Given the description of an element on the screen output the (x, y) to click on. 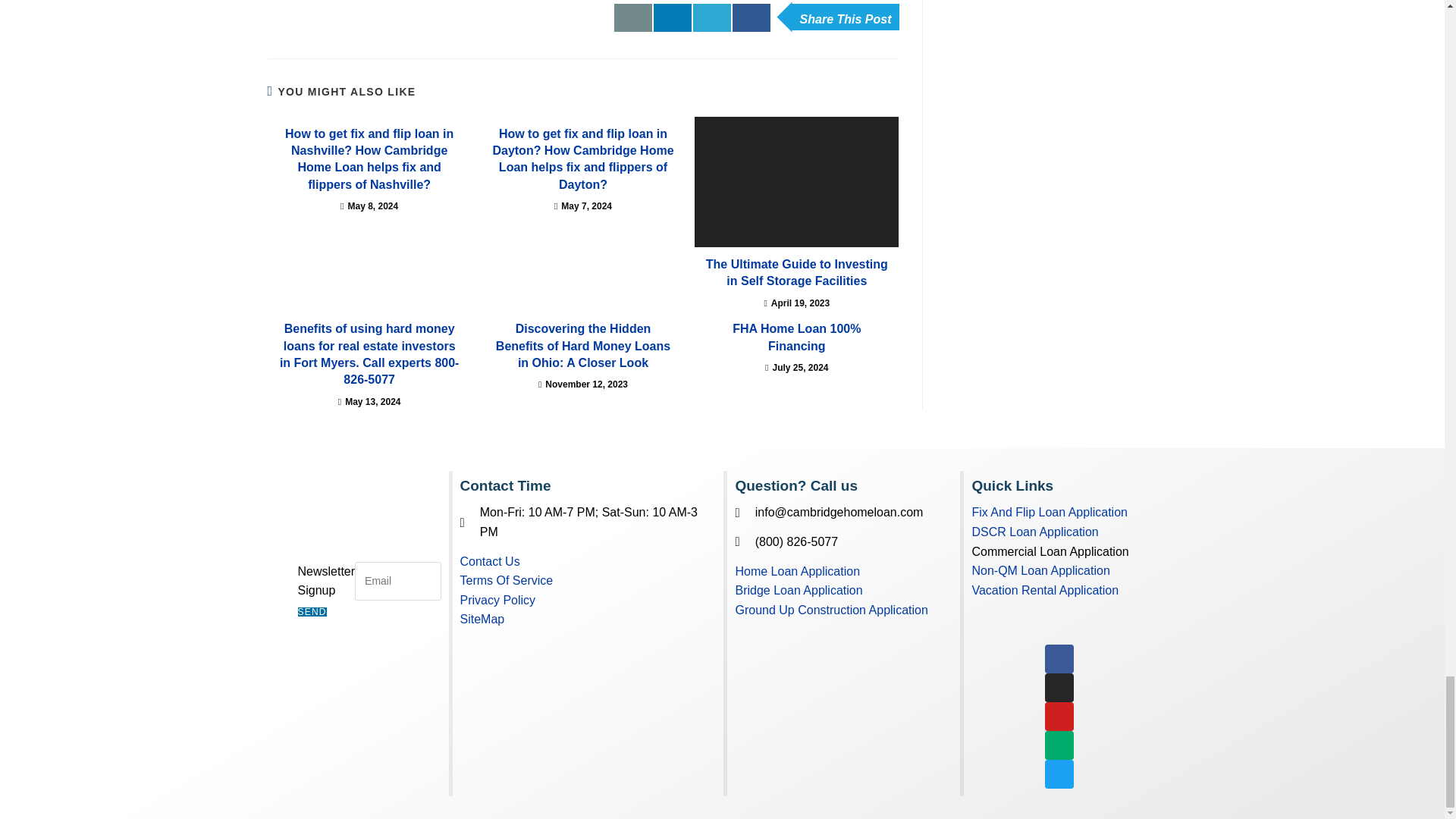
The Ultimate Guide to Investing in Self Storage Facilities (796, 182)
Share On Facebook (751, 18)
Share On Twitter (711, 18)
Share On Linkedin (672, 18)
Contact us (633, 18)
Share This Post (844, 17)
